Given the description of an element on the screen output the (x, y) to click on. 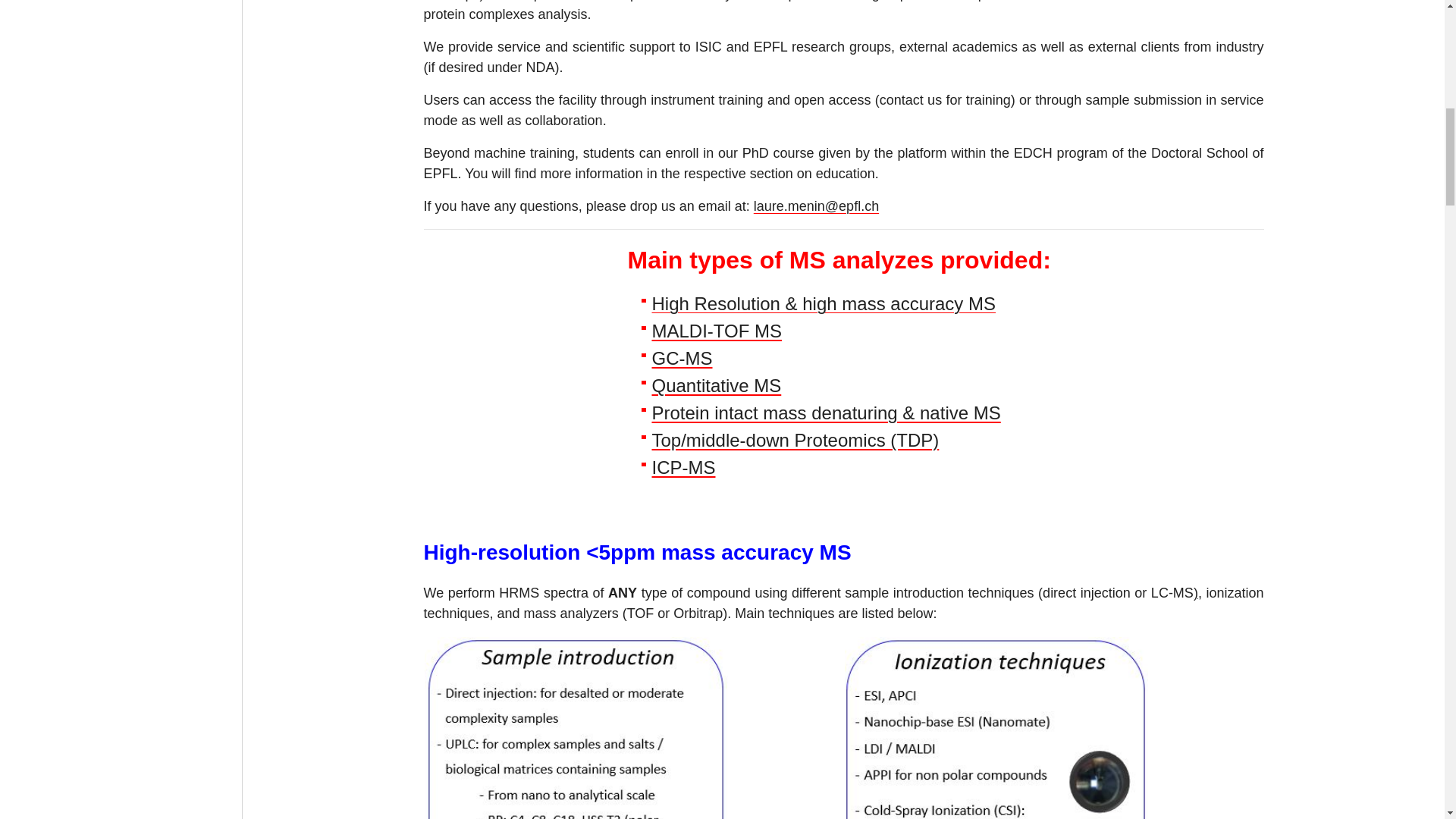
ICP-MS (684, 467)
GC-MS (682, 358)
MALDI-TOF MS (717, 331)
Quantitative MS (716, 385)
